Given the description of an element on the screen output the (x, y) to click on. 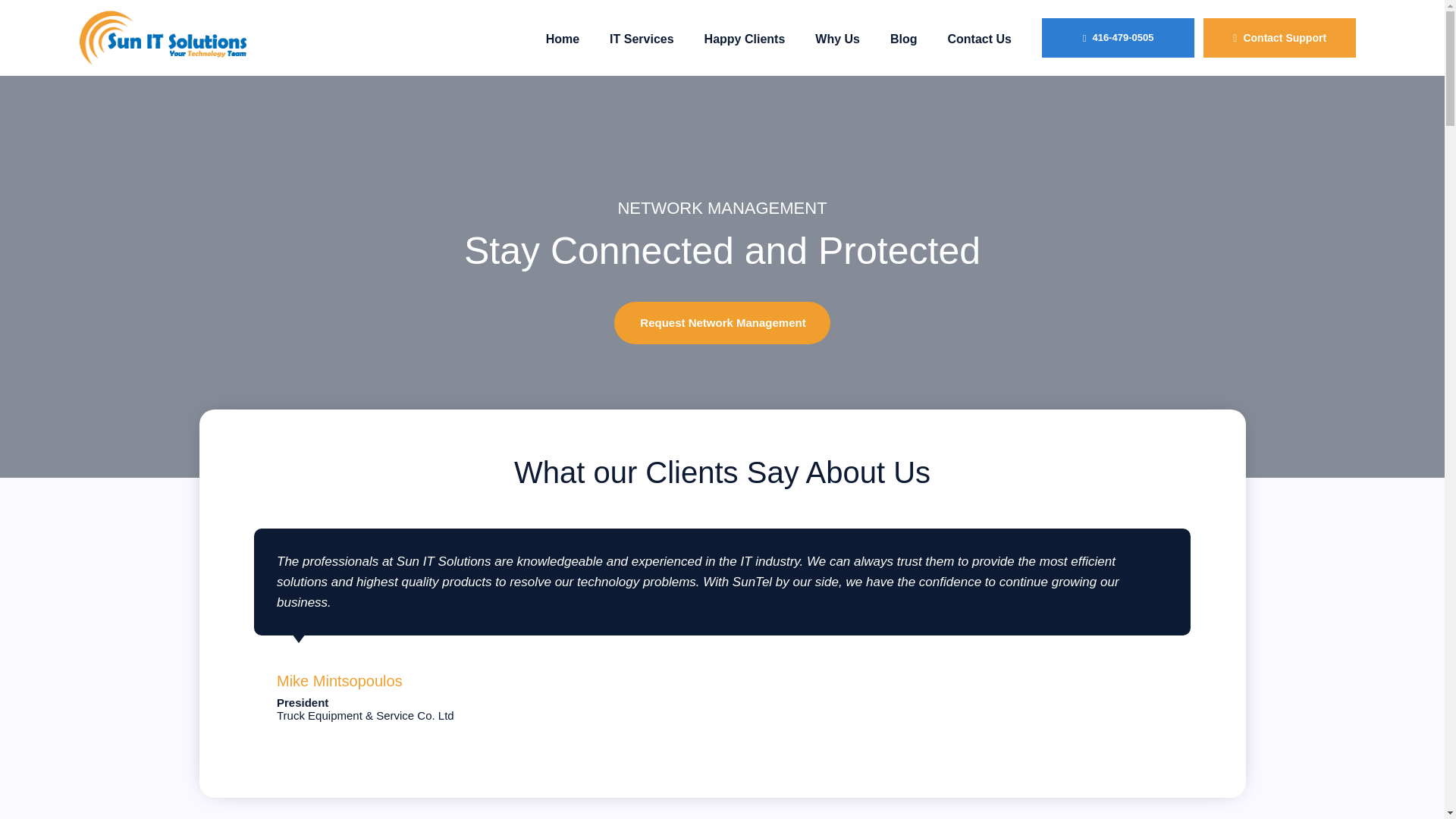
416-479-0505 (1117, 37)
IT Services (641, 39)
Contact Us (979, 39)
Contact Support (1279, 38)
Happy Clients (744, 39)
Why Us (837, 39)
Blog (904, 39)
Home (562, 39)
